Given the description of an element on the screen output the (x, y) to click on. 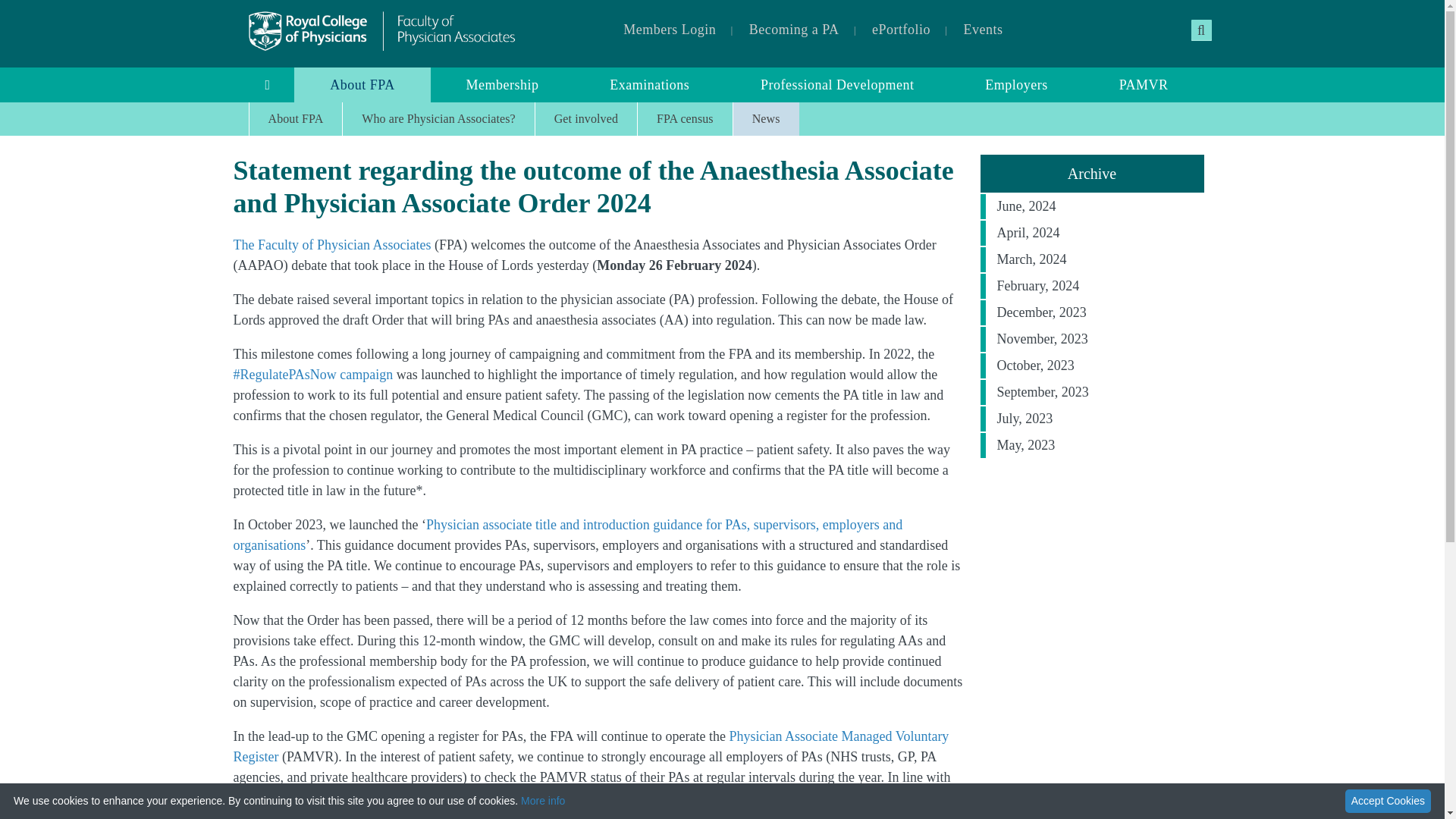
About FPA (361, 84)
Skip to main content (43, 7)
Membership (502, 84)
Professional Development (837, 84)
ePortfolio (900, 29)
Events (982, 29)
Examinations (649, 84)
PAMVR (1143, 84)
News (766, 118)
Becoming a PA (793, 29)
Who are Physician Associates? (438, 118)
Skip to main content (43, 7)
Members Login (669, 29)
FPA census (684, 118)
Skip to navigation (39, 7)
